Given the description of an element on the screen output the (x, y) to click on. 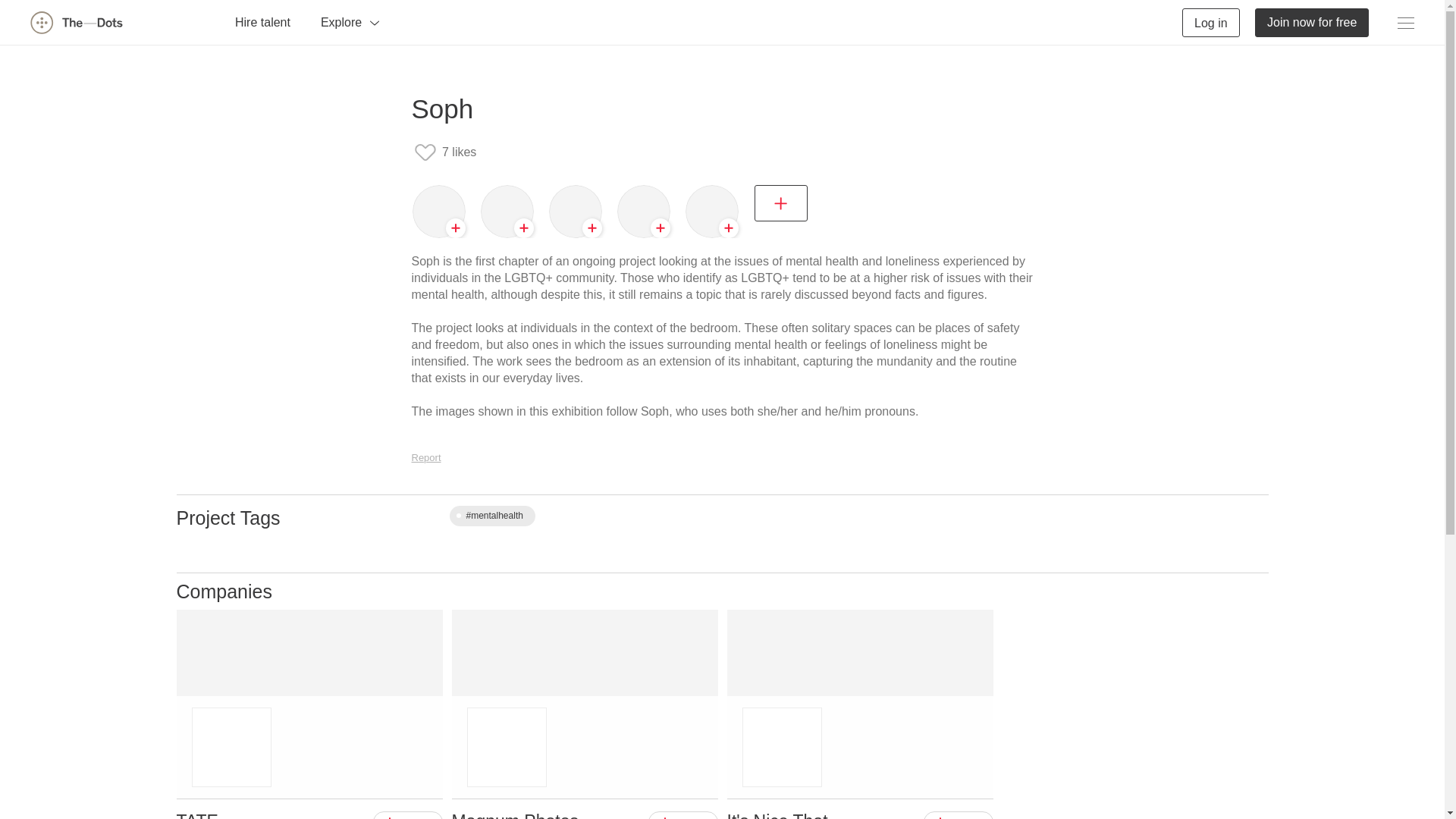
Hire talent (261, 21)
7 likes (444, 152)
Follow (957, 815)
Join now for free (1311, 21)
Follow (407, 815)
Explore (350, 21)
Log in (1211, 21)
Follow (682, 815)
Report (425, 457)
